Given the description of an element on the screen output the (x, y) to click on. 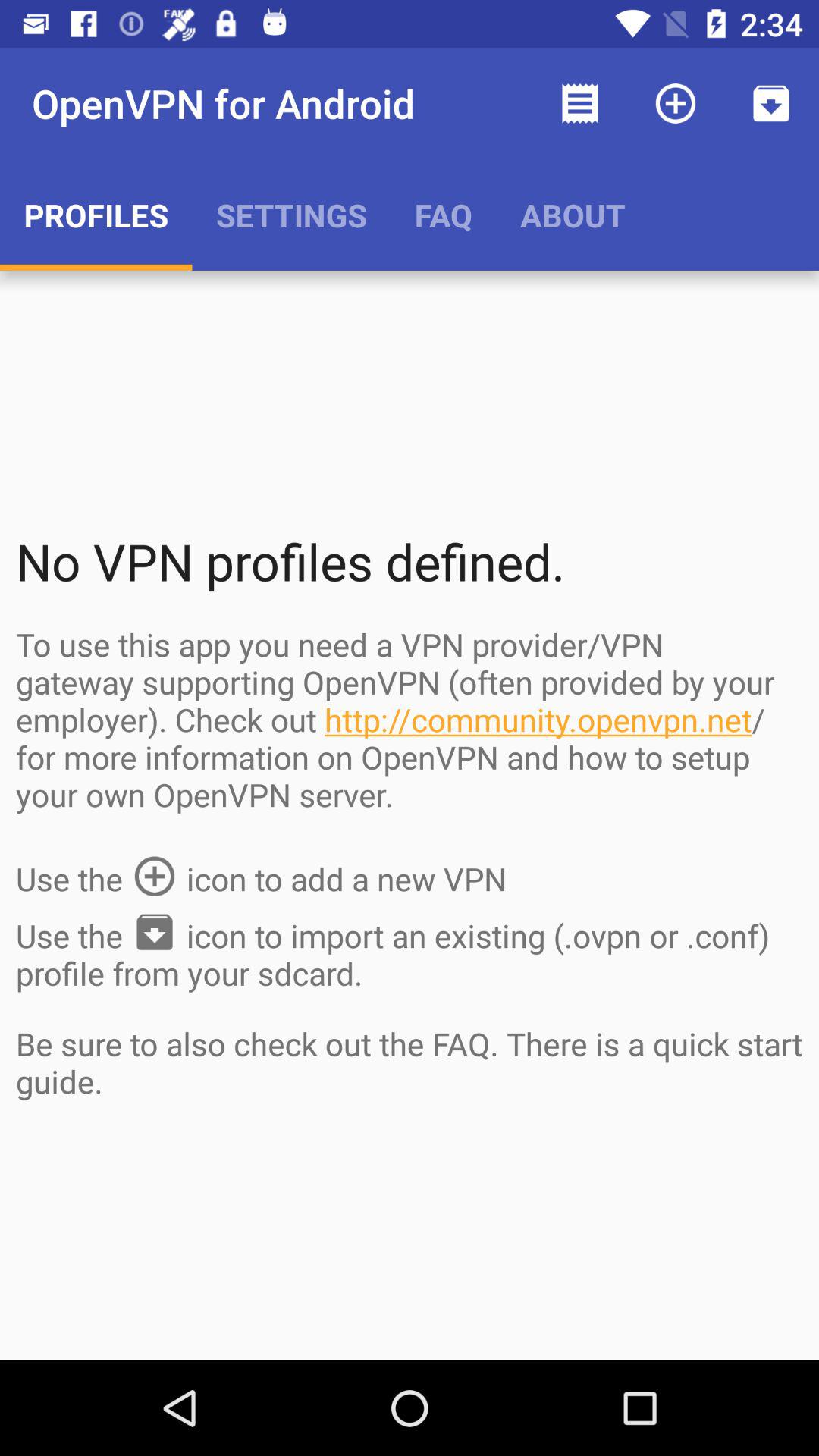
open the item to the left of the faq app (291, 214)
